Given the description of an element on the screen output the (x, y) to click on. 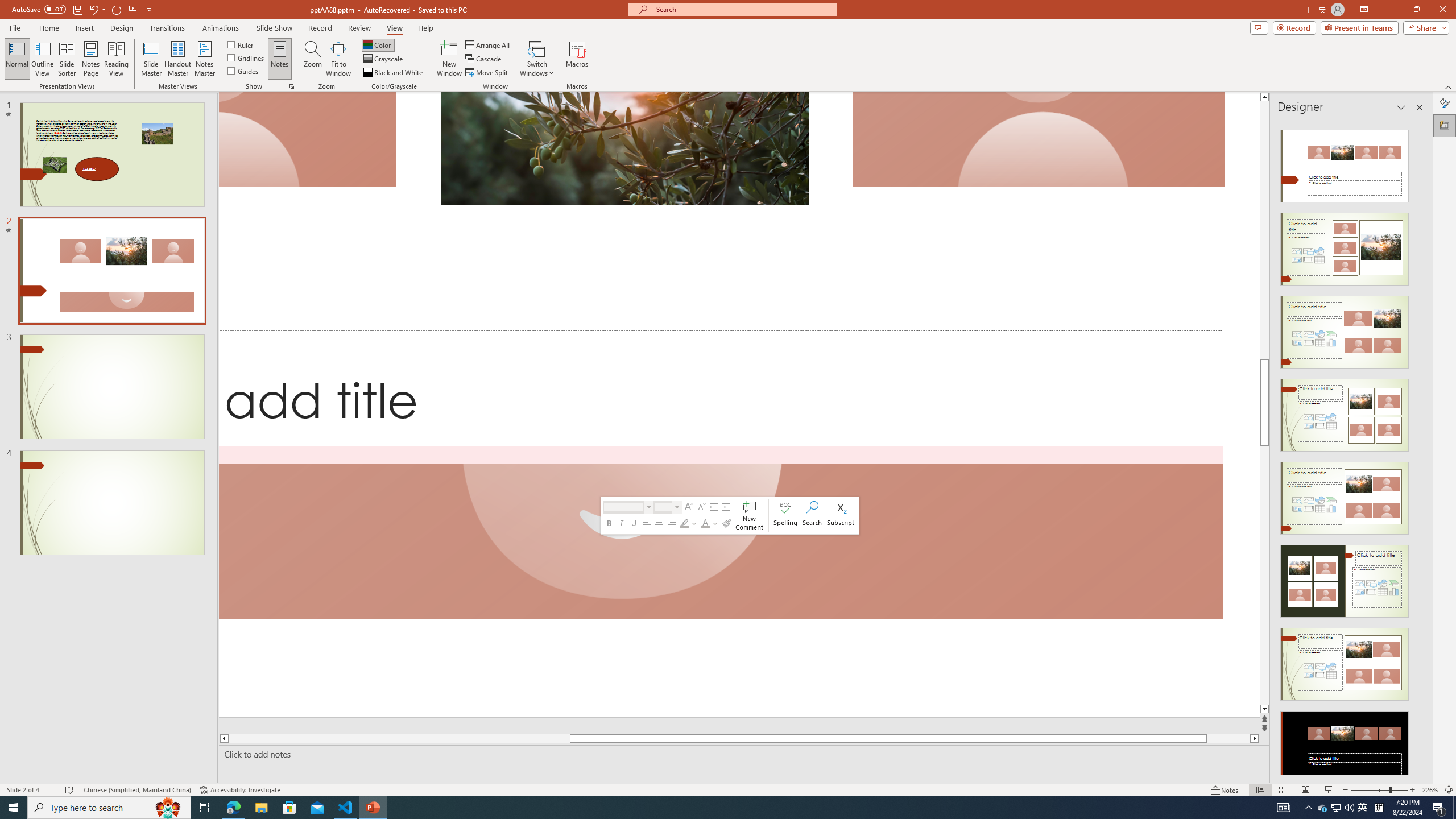
New Window (449, 58)
Cascade (484, 58)
Macros (576, 58)
Class: NetUIToolWindow (729, 515)
Notes Master (204, 58)
Recommended Design: Design Idea (1344, 162)
